Given the description of an element on the screen output the (x, y) to click on. 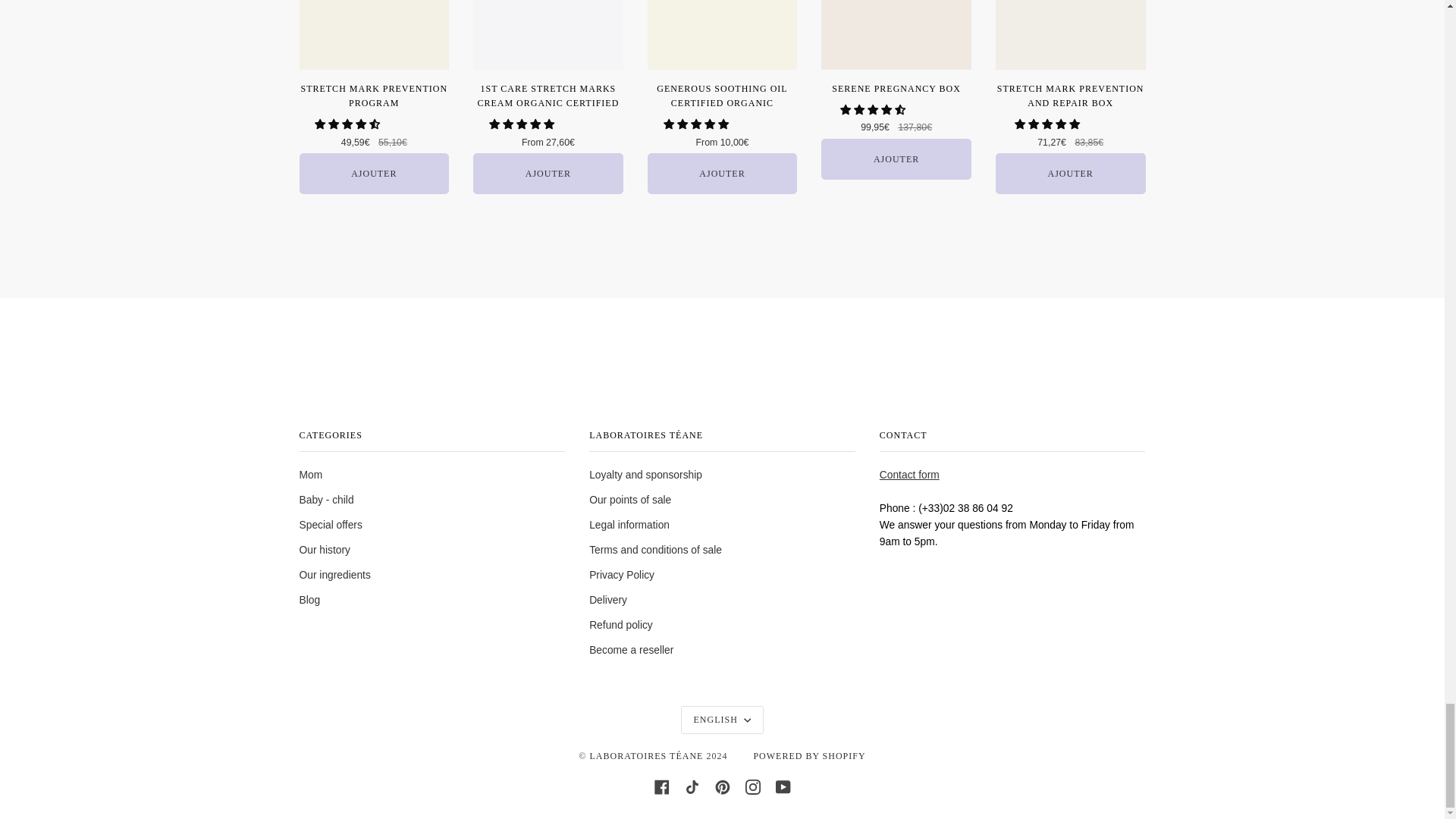
Ajouter (896, 158)
YouTube (782, 785)
Contact (909, 474)
Pinterest (721, 785)
Ajouter (1070, 173)
Ajouter (548, 173)
Ajouter (373, 173)
Tiktok (691, 785)
Ajouter (722, 173)
Instagram (752, 785)
Facebook (660, 785)
